Given the description of an element on the screen output the (x, y) to click on. 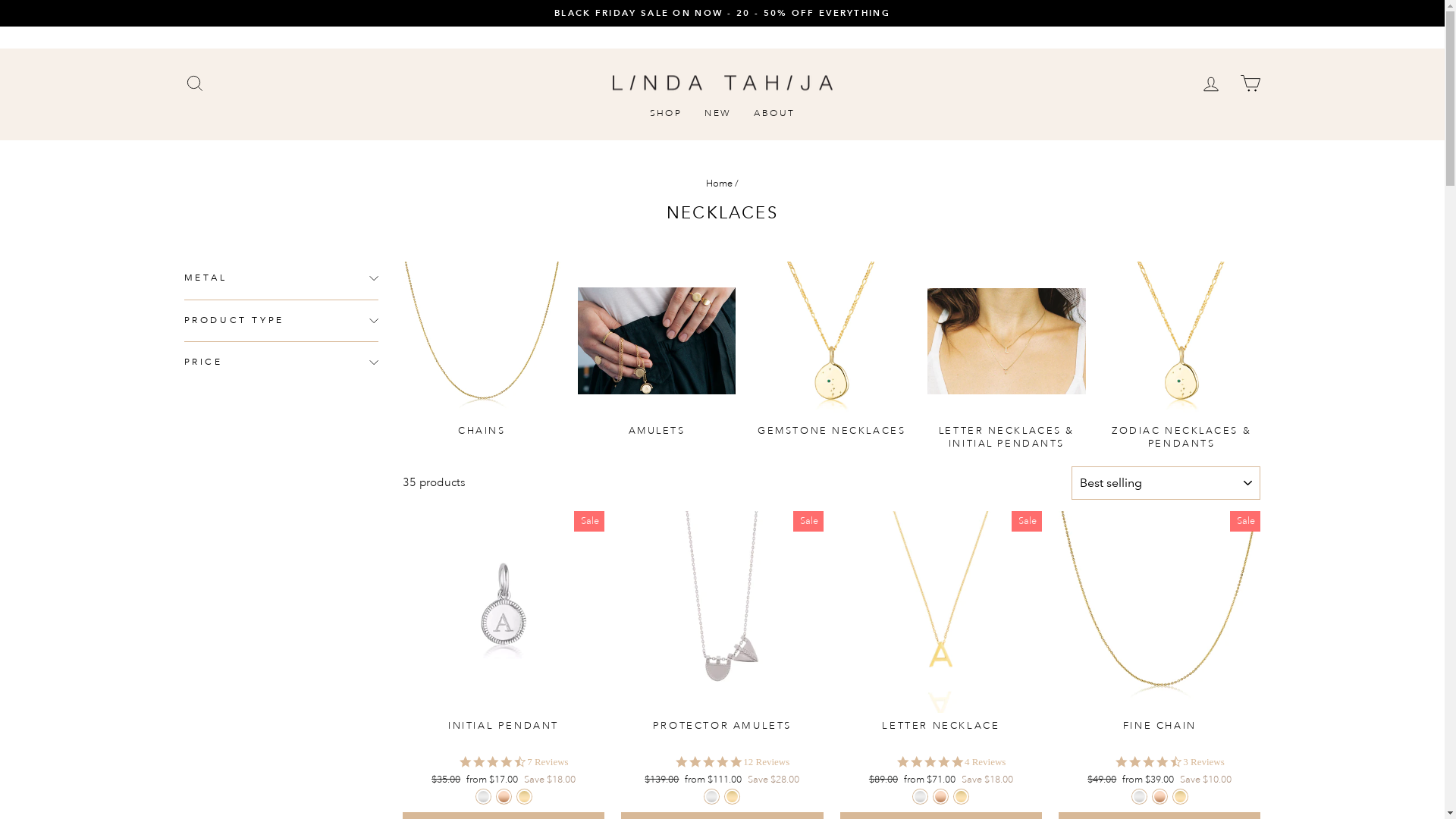
Home Element type: text (719, 183)
Skip to content Element type: text (0, 0)
PRODUCT TYPE Element type: text (280, 320)
NEW Element type: text (717, 114)
4 Reviews Element type: text (985, 761)
Australia (AUD $) Element type: text (1203, 36)
CART Element type: text (1249, 82)
GEMSTONE NECKLACES Element type: text (831, 348)
LETTER NECKLACES & INITIAL PENDANTS Element type: text (1006, 355)
ZODIAC NECKLACES & PENDANTS Element type: text (1181, 355)
SEARCH Element type: text (193, 82)
SHOP Element type: text (665, 114)
ABOUT Element type: text (774, 114)
LOG IN Element type: text (1210, 82)
PRICE Element type: text (280, 362)
METAL Element type: text (280, 277)
12 Reviews Element type: text (766, 761)
3 Reviews Element type: text (1203, 761)
7 Reviews Element type: text (547, 761)
CHAINS Element type: text (481, 348)
AMULETS Element type: text (656, 348)
